Given the description of an element on the screen output the (x, y) to click on. 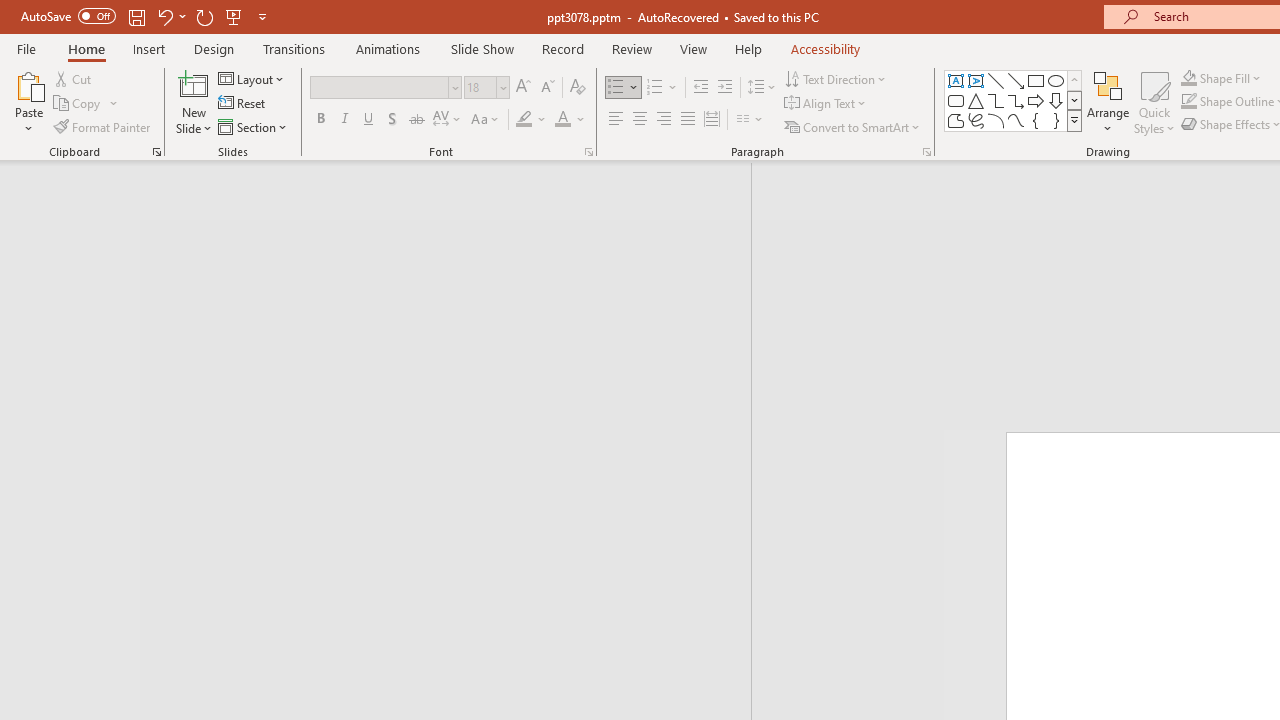
Shape Outline Green, Accent 1 (1188, 101)
Connector: Elbow Arrow (1016, 100)
Bold (320, 119)
Center (639, 119)
Shadow (392, 119)
Align Left (616, 119)
Underline (369, 119)
Shape Fill (1221, 78)
Columns (750, 119)
Class: NetUIImage (1075, 120)
Decrease Indent (700, 87)
Open (502, 87)
